Given the description of an element on the screen output the (x, y) to click on. 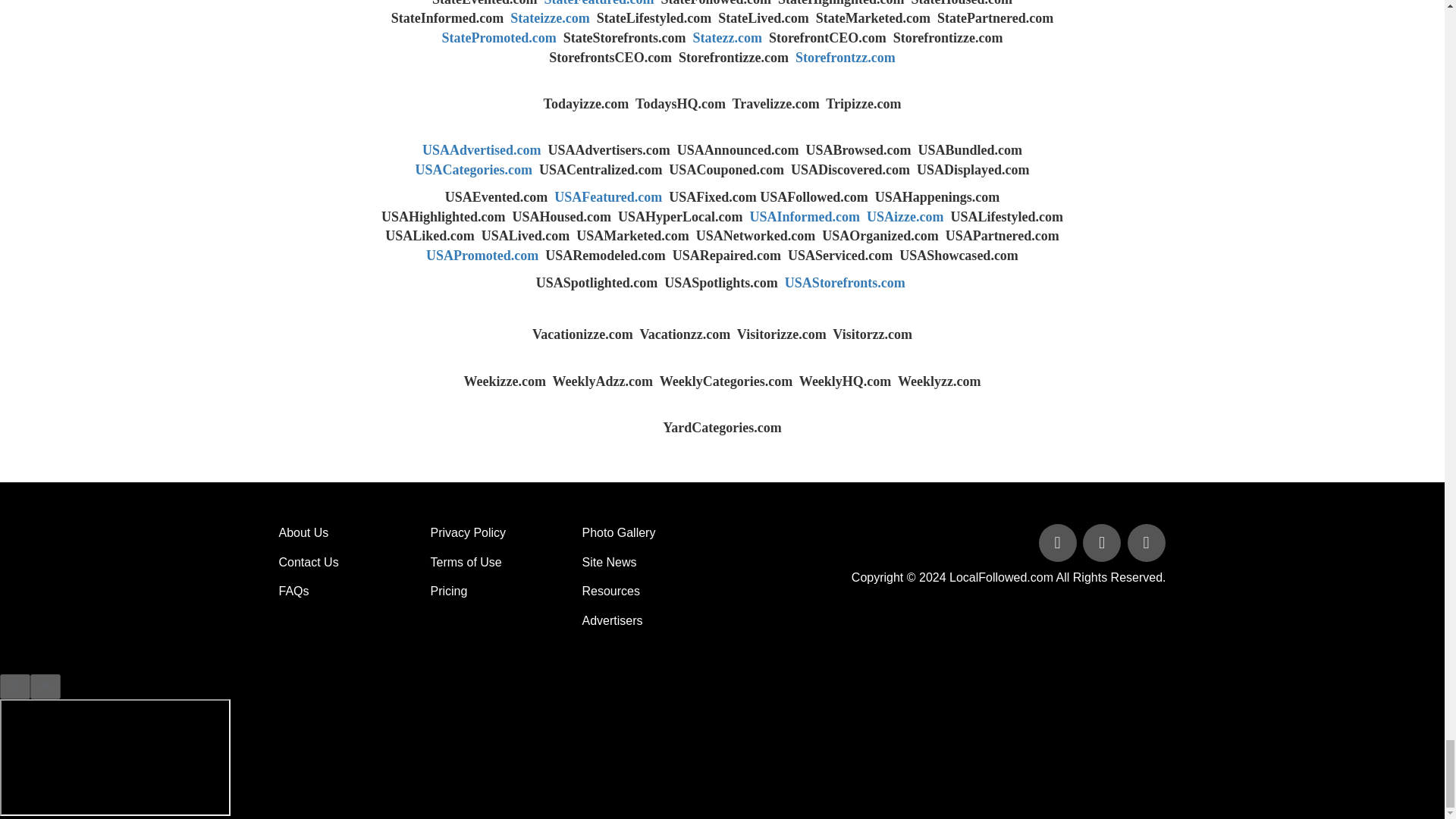
Follow Us on Twitter (1103, 543)
Follow Us on Linked In (1145, 543)
Follow Us on Facebook (1058, 543)
